Given the description of an element on the screen output the (x, y) to click on. 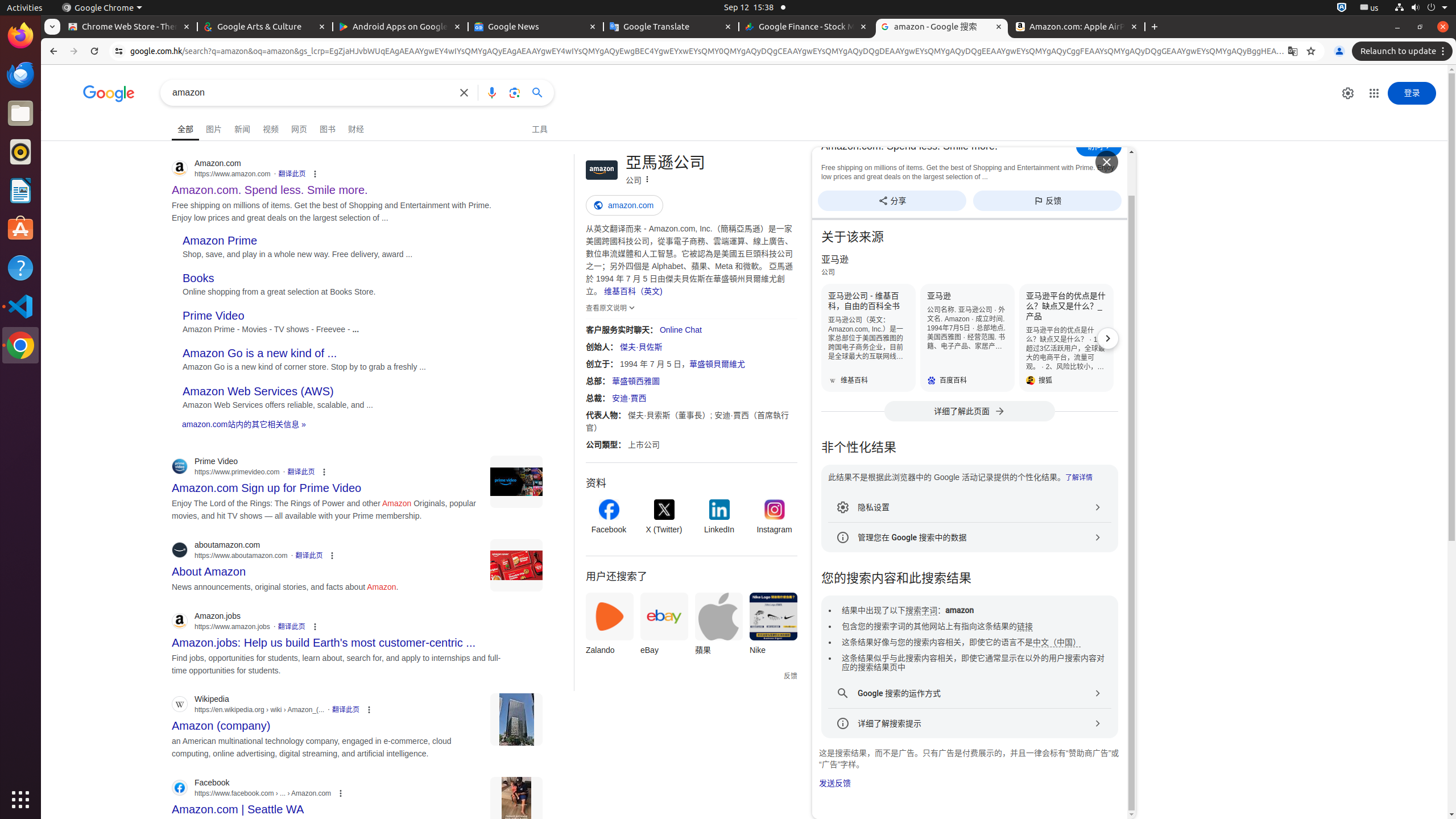
新闻 Element type: link (241, 127)
amazon - Google 搜索 - Memory usage - 86.9 MB Element type: page-tab (941, 26)
前往Amazon.com. Spend less. Smile more. Element type: link (1098, 145)
Ubuntu Software Element type: push-button (20, 229)
X (Twitter) Element type: link (663, 517)
